Given the description of an element on the screen output the (x, y) to click on. 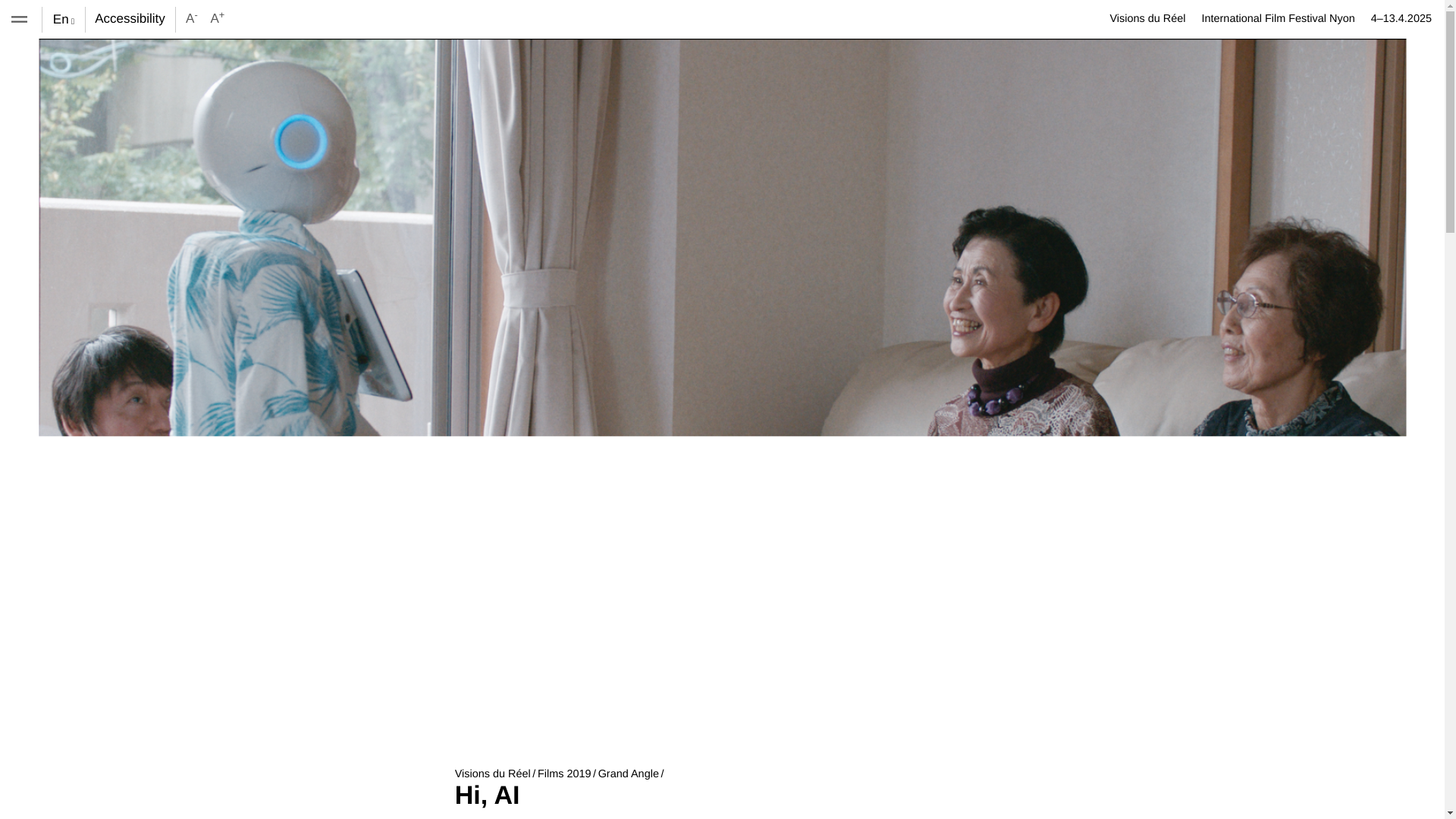
Accessibility (129, 19)
